Given the description of an element on the screen output the (x, y) to click on. 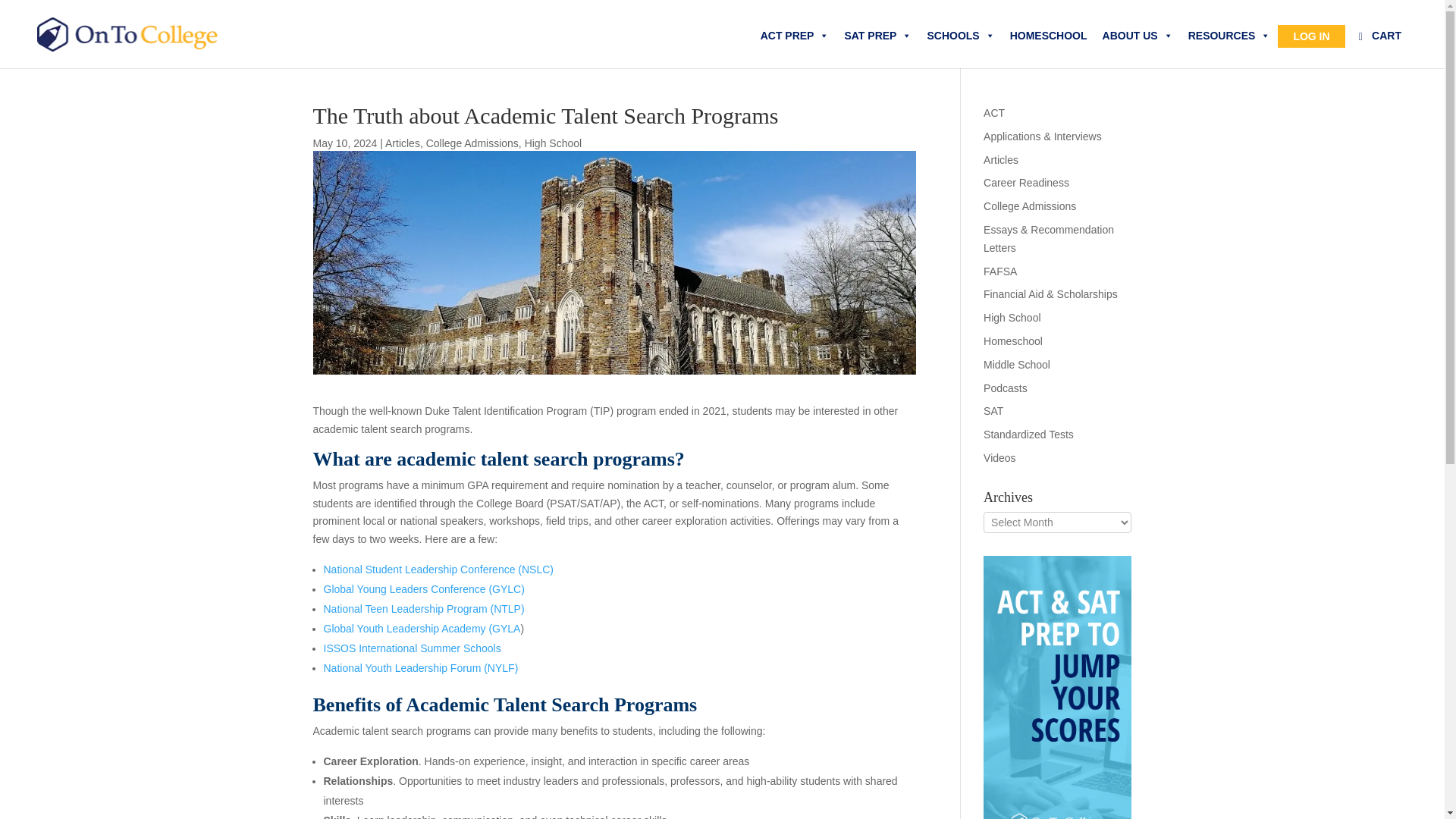
RESOURCES (1229, 35)
ACT PREP (794, 35)
ABOUT US (1137, 35)
SAT PREP (876, 35)
LOG IN (1310, 35)
HOMESCHOOL (1048, 35)
SCHOOLS (959, 35)
